Given the description of an element on the screen output the (x, y) to click on. 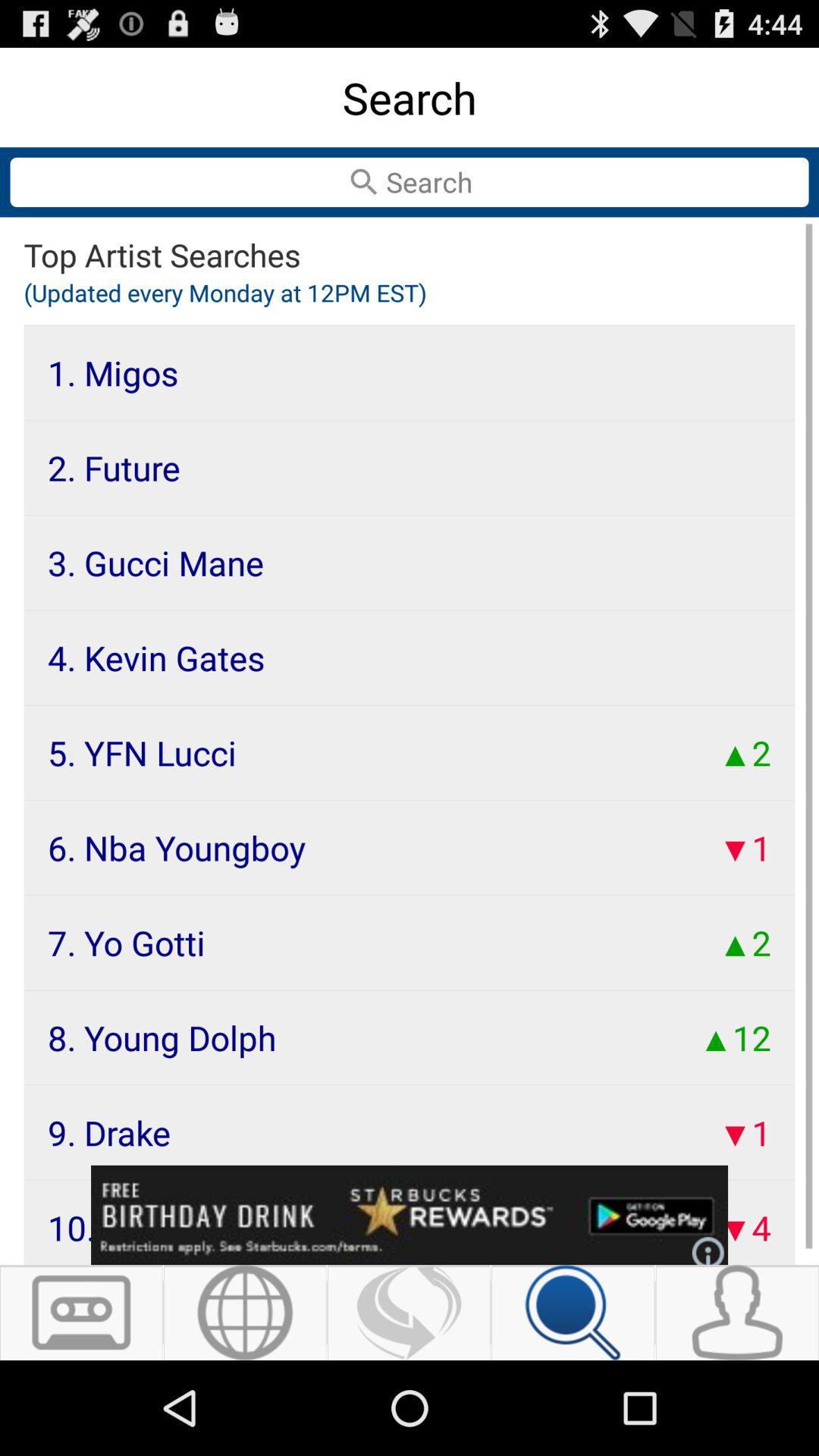
refresh (408, 1312)
